Given the description of an element on the screen output the (x, y) to click on. 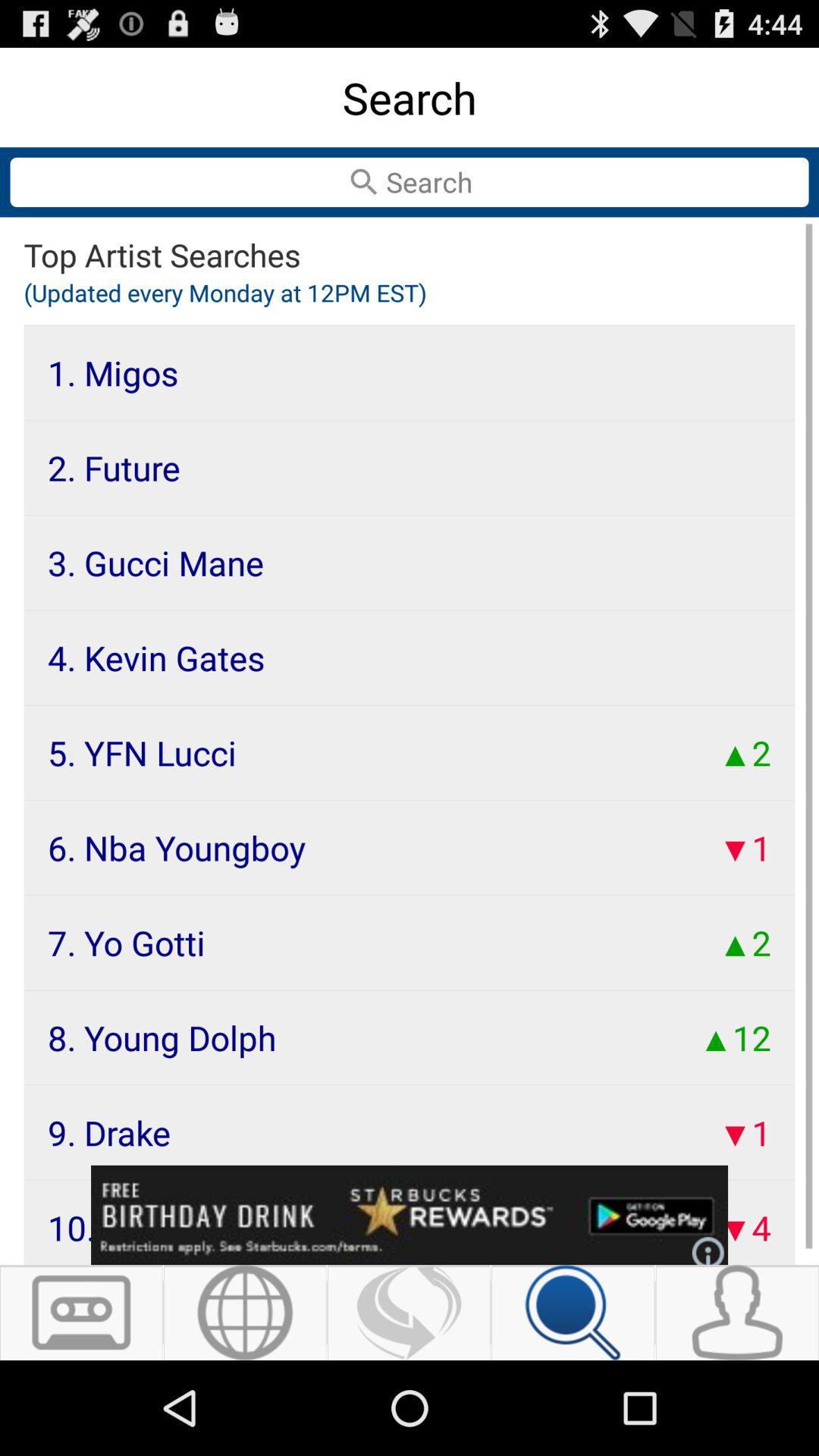
refresh (408, 1312)
